Given the description of an element on the screen output the (x, y) to click on. 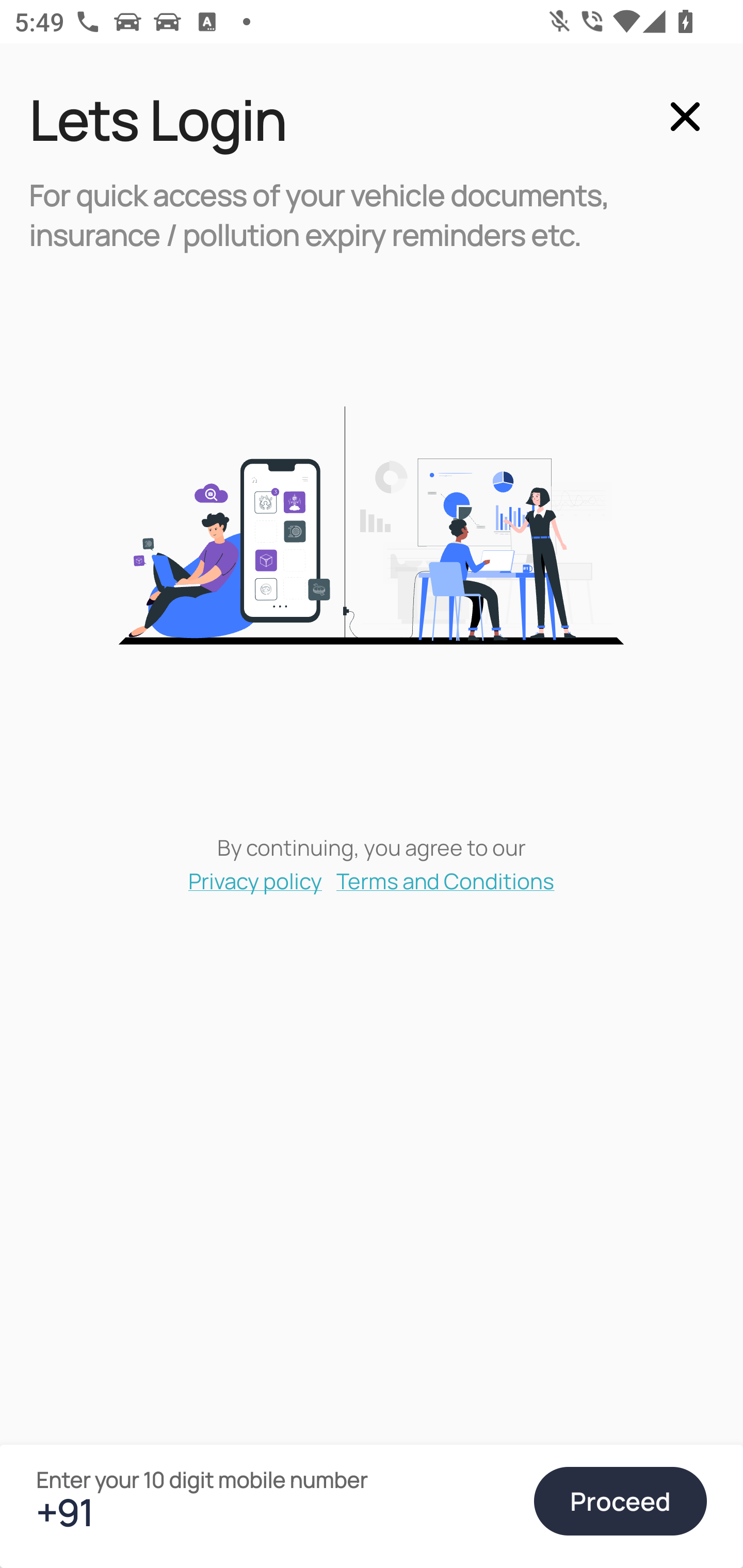
Privacy policy (254, 880)
Terms and Conditions (445, 880)
Proceed (620, 1501)
Enter your 10 digit mobile number (275, 1512)
